Given the description of an element on the screen output the (x, y) to click on. 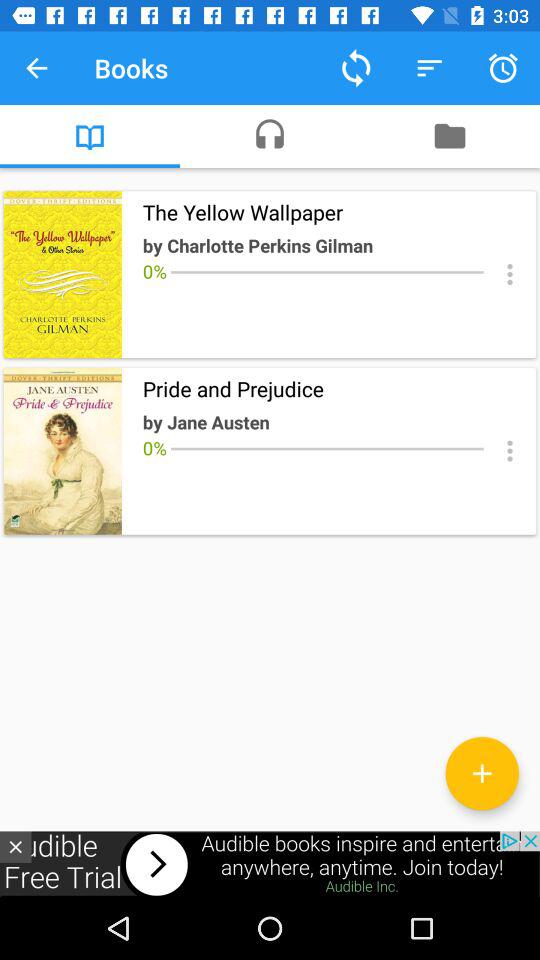
open options (509, 450)
